Given the description of an element on the screen output the (x, y) to click on. 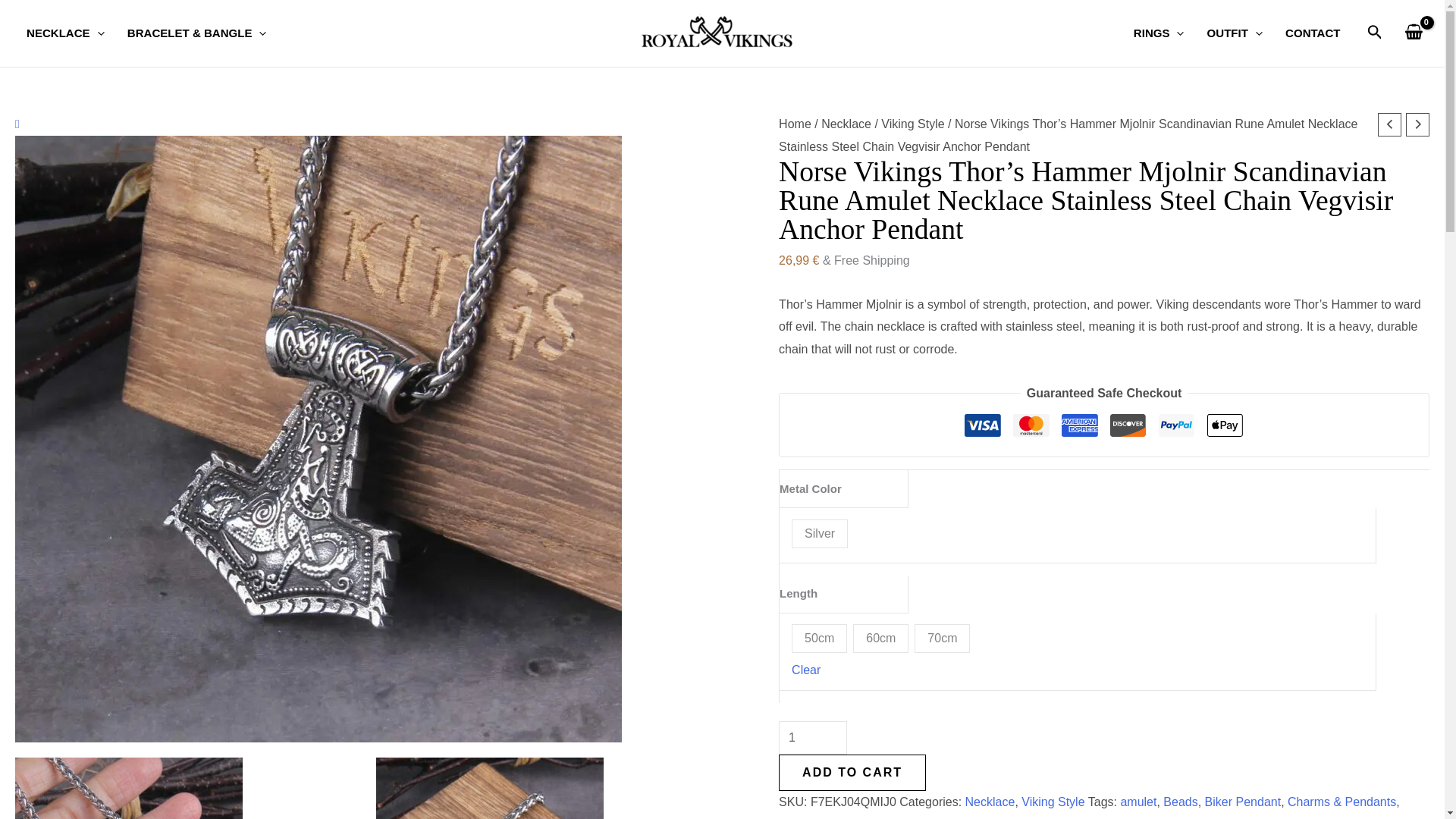
RINGS (1158, 33)
NECKLACE (65, 33)
OUTFIT (1234, 33)
1 (812, 737)
CONTACT (1313, 33)
